Given the description of an element on the screen output the (x, y) to click on. 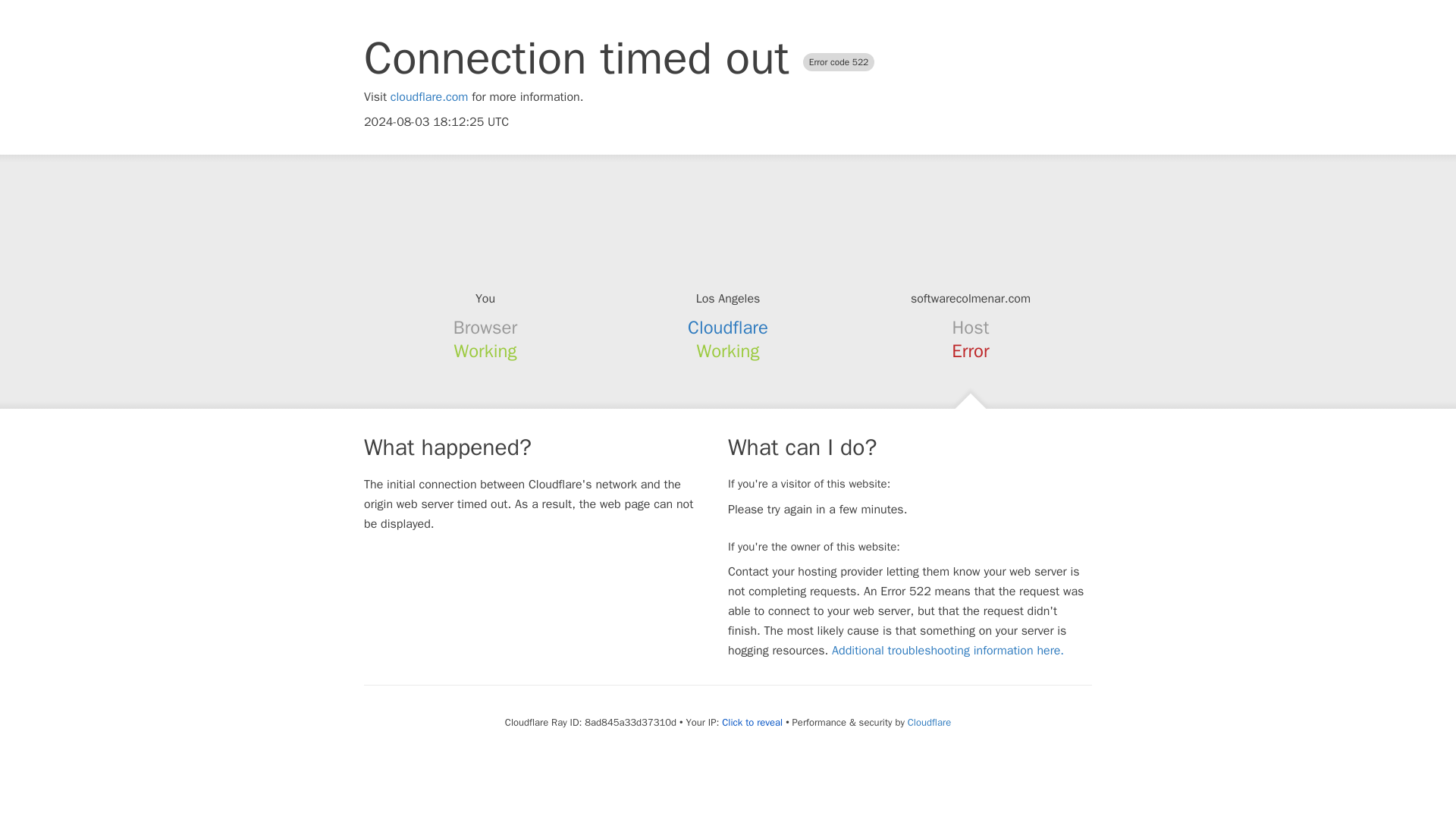
cloudflare.com (429, 96)
Additional troubleshooting information here. (947, 650)
Cloudflare (928, 721)
Cloudflare (727, 327)
Click to reveal (752, 722)
